Given the description of an element on the screen output the (x, y) to click on. 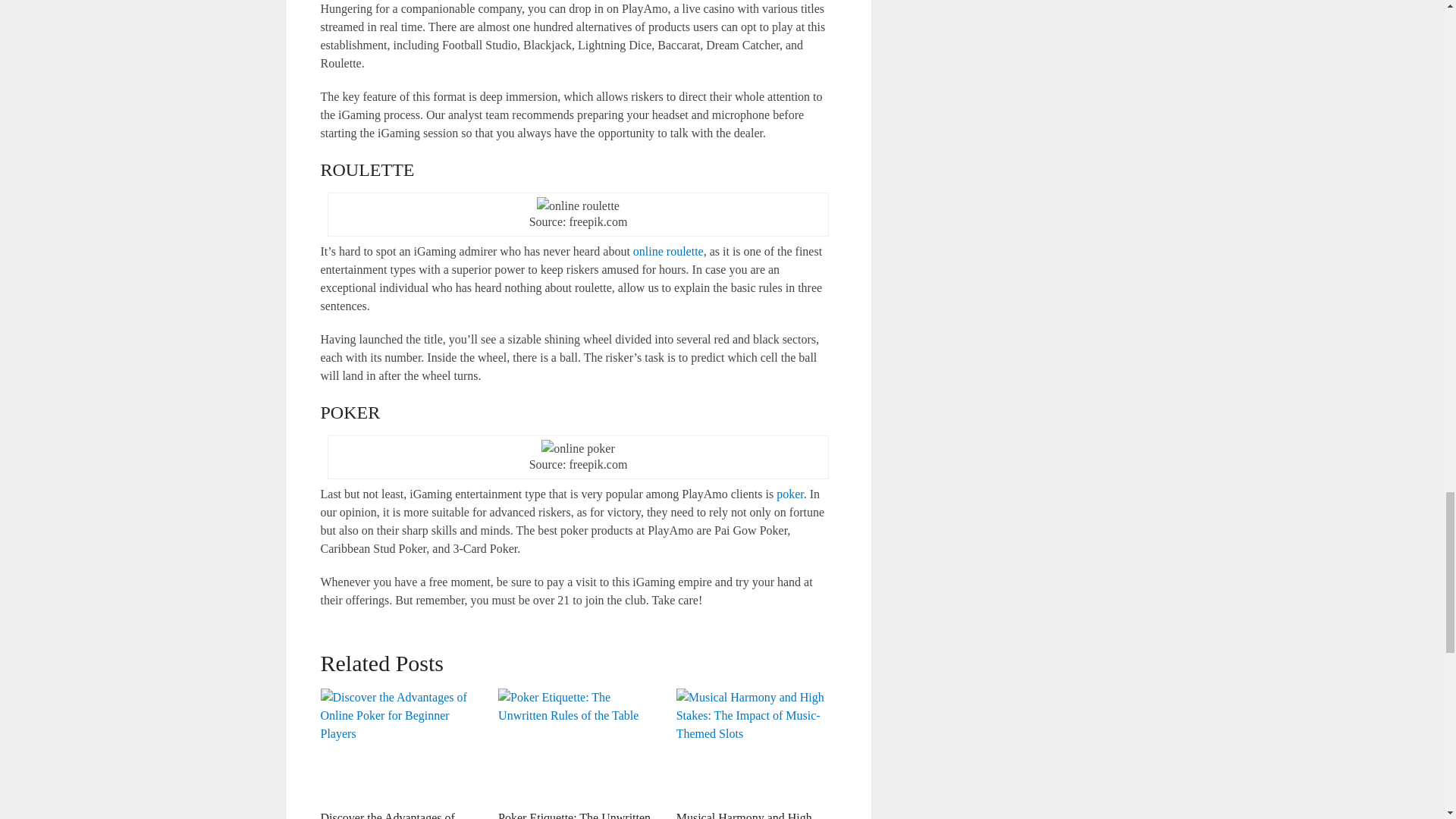
Discover the Advantages of Online Poker for Beginner Players (387, 815)
Poker Etiquette: The Unwritten Rules of the Table (577, 745)
Discover the Advantages of Online Poker for Beginner Players (400, 745)
poker (789, 493)
Poker Etiquette: The Unwritten Rules of the Table (573, 815)
Discover the Advantages of Online Poker for Beginner Players (387, 815)
Poker Etiquette: The Unwritten Rules of the Table (573, 815)
online roulette (668, 250)
